Given the description of an element on the screen output the (x, y) to click on. 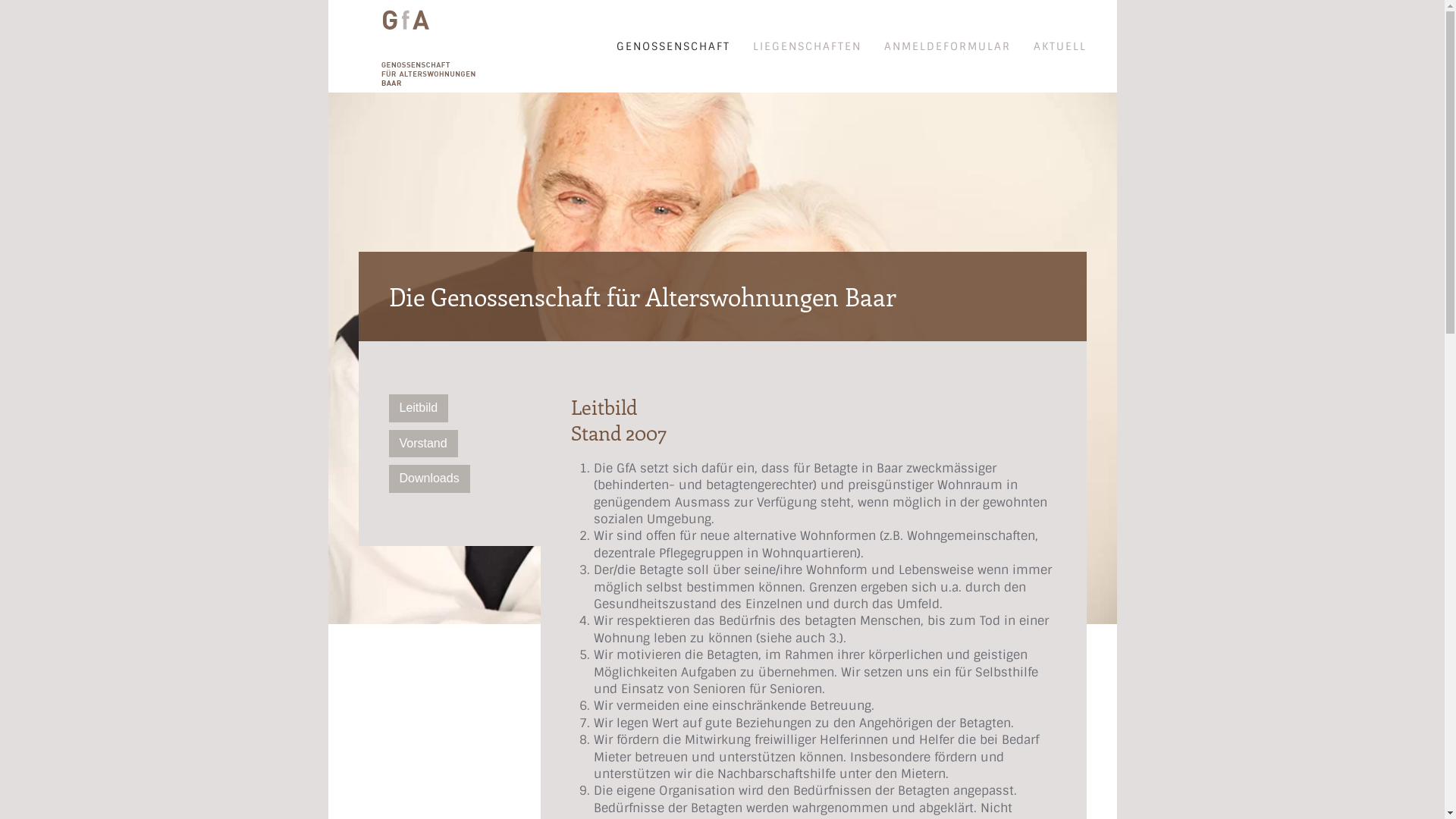
AKTUELL Element type: text (1058, 45)
LIEGENSCHAFTEN Element type: text (806, 45)
Downloads Element type: text (428, 478)
Vorstand Element type: text (422, 443)
ANMELDEFORMULAR Element type: text (947, 45)
GENOSSENSCHAFT Element type: text (672, 45)
Leitbild Element type: text (418, 407)
